Given the description of an element on the screen output the (x, y) to click on. 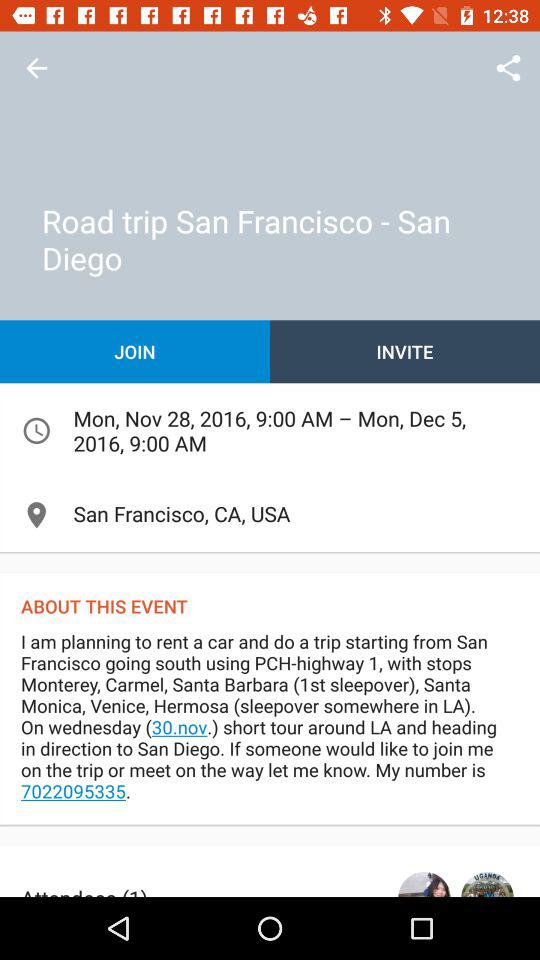
turn on join icon (135, 351)
